Given the description of an element on the screen output the (x, y) to click on. 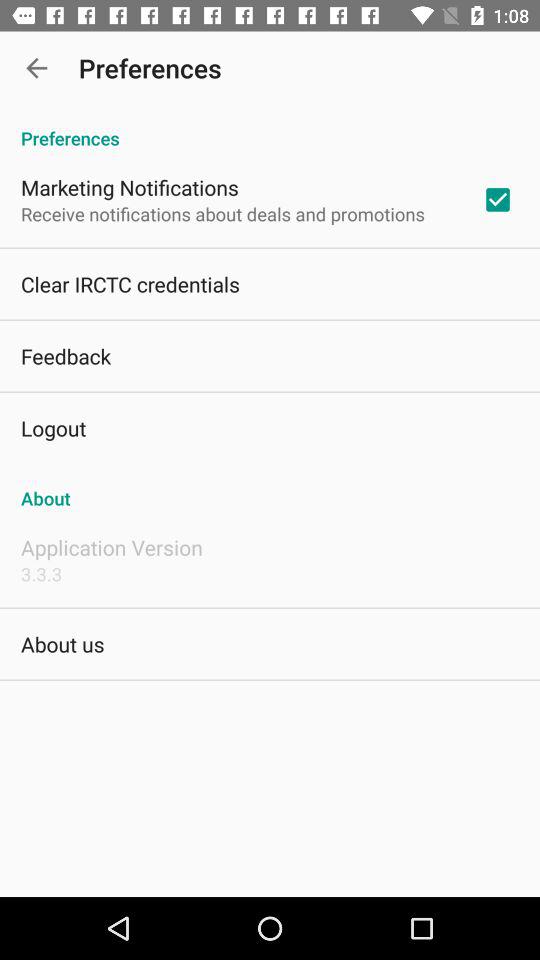
turn on the checkbox at the top right corner (497, 199)
